Given the description of an element on the screen output the (x, y) to click on. 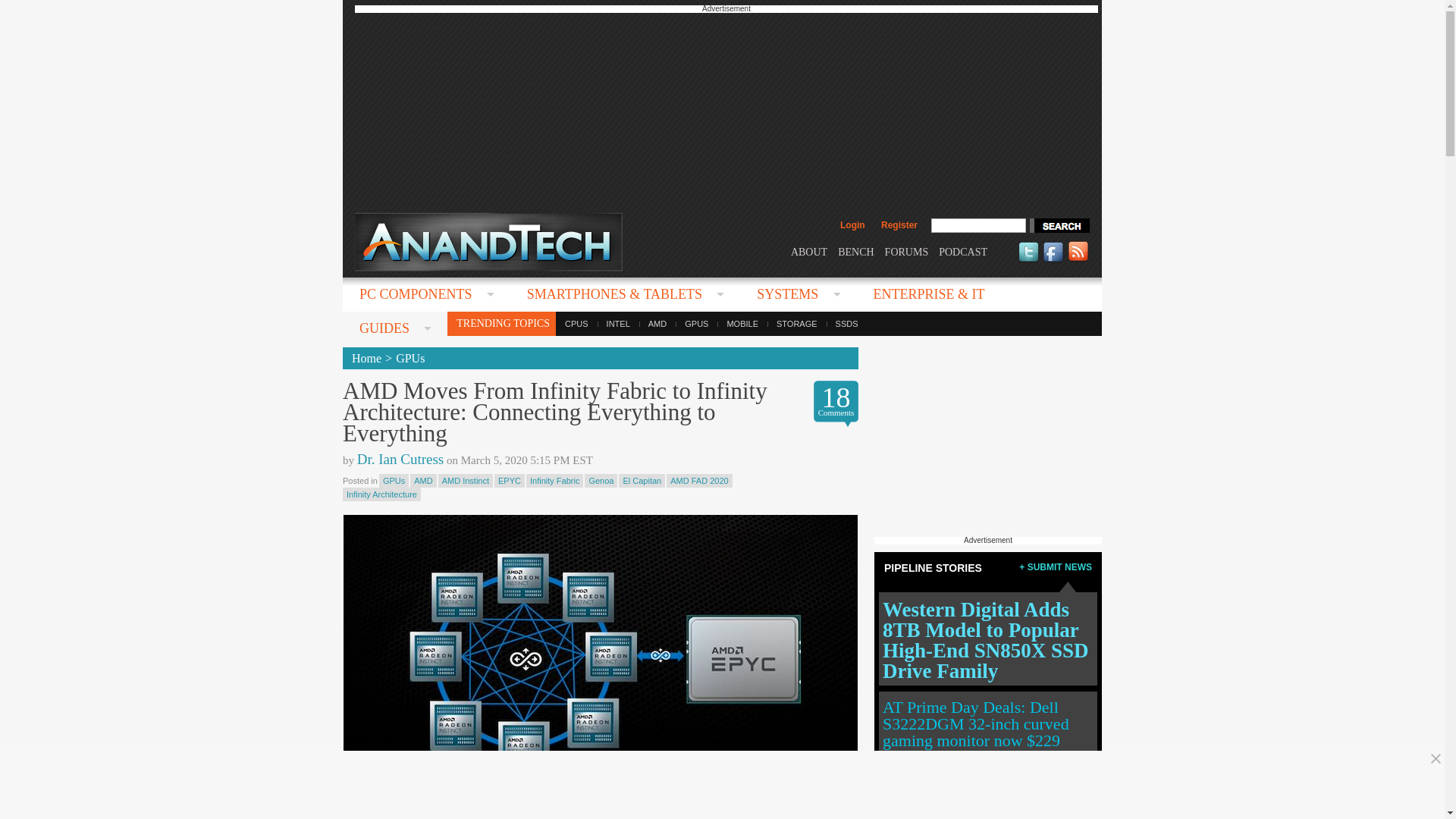
search (1059, 225)
search (1059, 225)
Register (898, 225)
PODCAST (963, 251)
search (1059, 225)
BENCH (855, 251)
Login (852, 225)
FORUMS (906, 251)
ABOUT (808, 251)
